Given the description of an element on the screen output the (x, y) to click on. 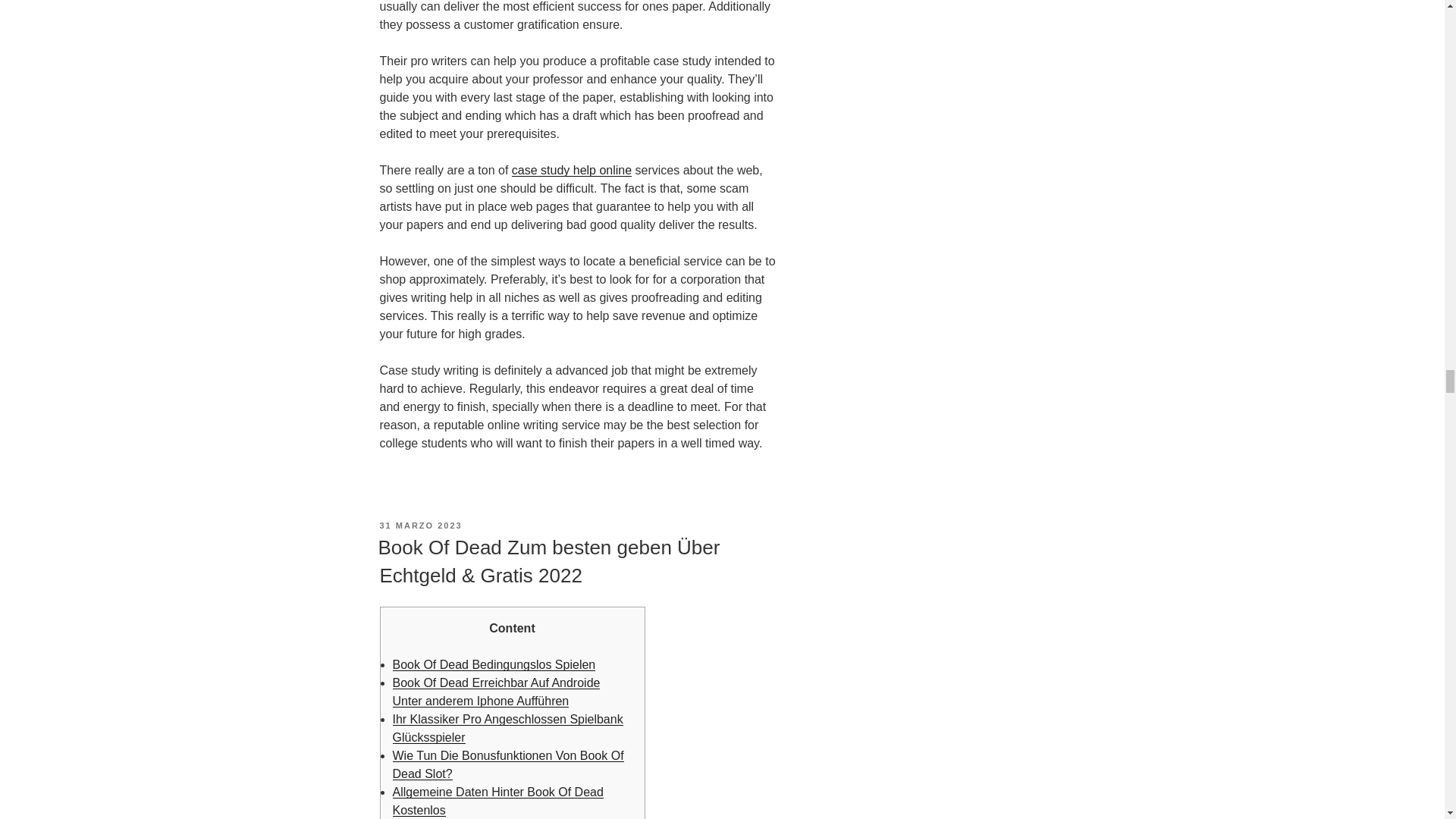
Wie Tun Die Bonusfunktionen Von Book Of Dead Slot? (508, 764)
31 MARZO 2023 (419, 524)
Book Of Dead Bedingungslos Spielen (494, 664)
case study help online (571, 169)
Allgemeine Daten Hinter Book Of Dead Kostenlos (498, 800)
